Given the description of an element on the screen output the (x, y) to click on. 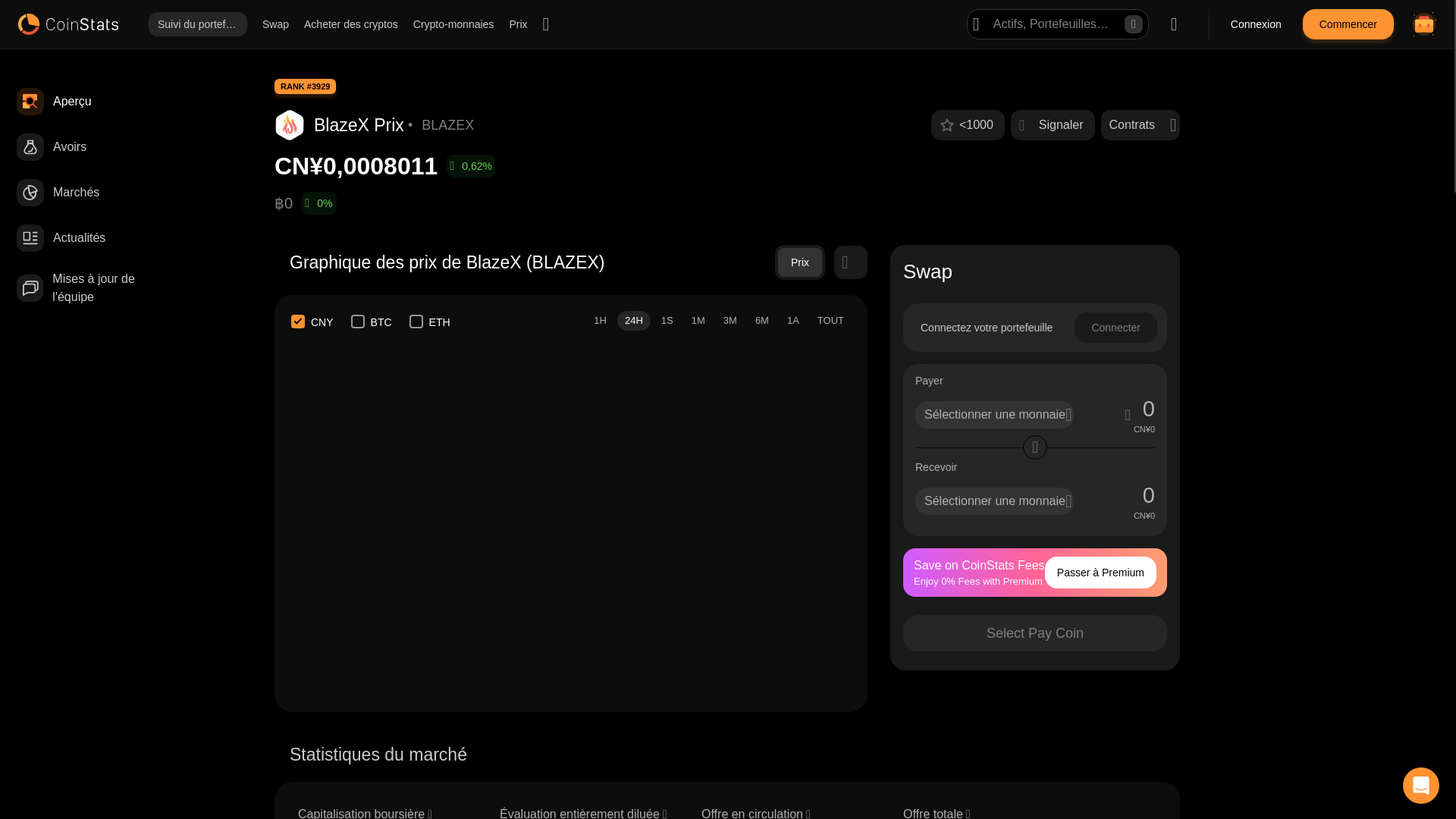
BlazeX Prix (359, 125)
Crypto-monnaies (454, 23)
Commencer (1348, 24)
Suivi du portefeuille (197, 24)
Prix (517, 23)
Prix (517, 23)
BLAZEX (448, 125)
Connexion (1256, 24)
Signaler (1052, 124)
Suivi du portefeuille (197, 24)
